Given the description of an element on the screen output the (x, y) to click on. 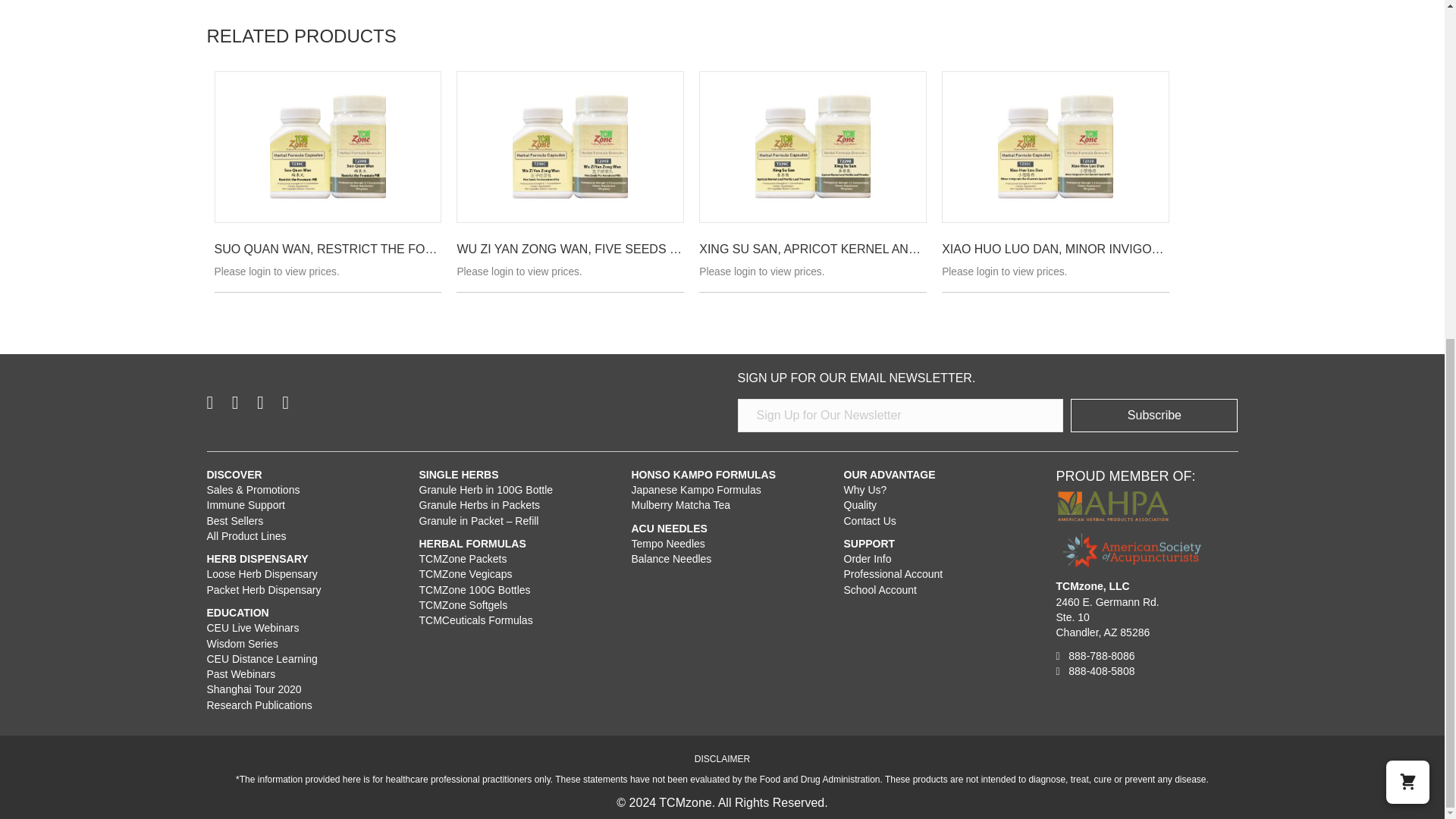
asacu (1131, 549)
ahpa (1112, 505)
